Given the description of an element on the screen output the (x, y) to click on. 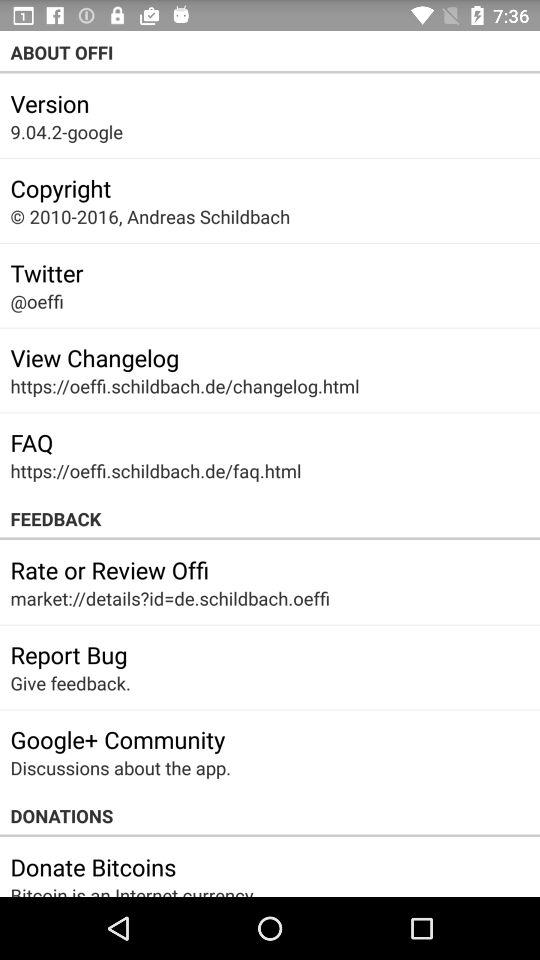
select the app above discussions about the (117, 739)
